Given the description of an element on the screen output the (x, y) to click on. 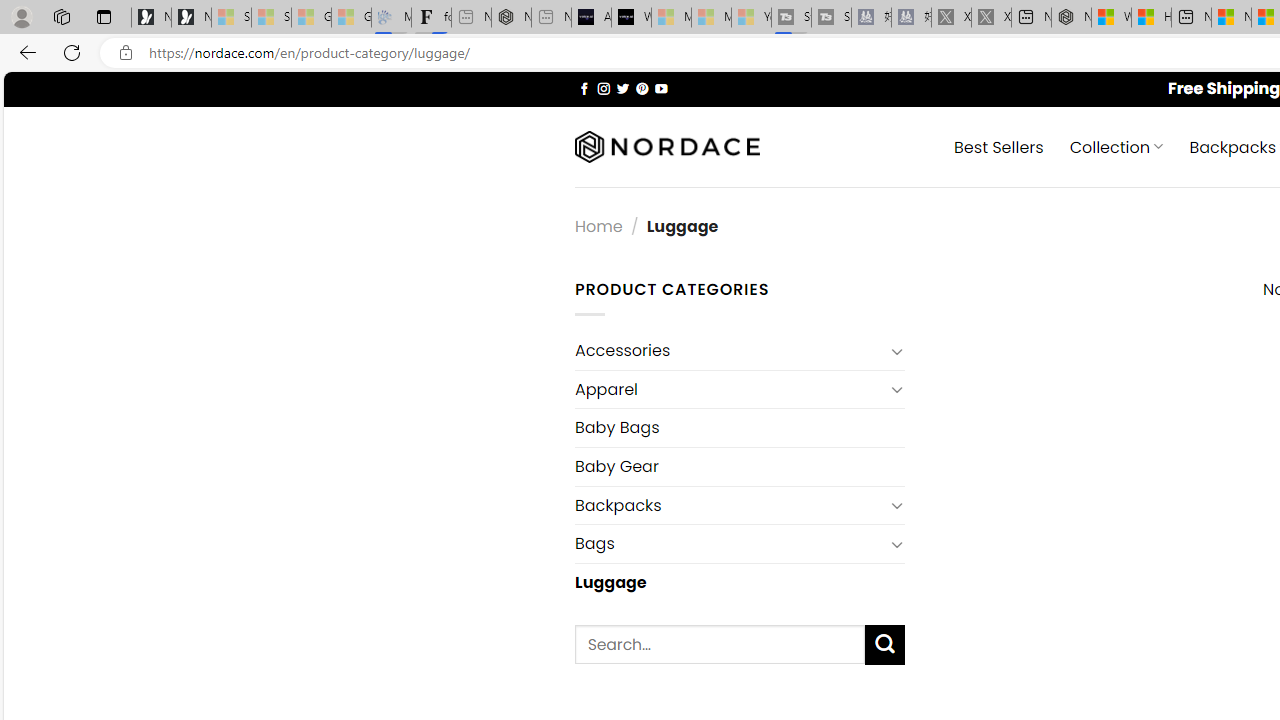
AI Voice Changer for PC and Mac - Voice.ai (591, 17)
Luggage (739, 582)
New tab - Sleeping (551, 17)
Nordace - #1 Japanese Best-Seller - Siena Smart Backpack (511, 17)
Follow on Pinterest (642, 88)
Luggage (739, 581)
Submit (884, 644)
Baby Gear (739, 465)
Accessories (729, 350)
 Best Sellers (998, 146)
